Given the description of an element on the screen output the (x, y) to click on. 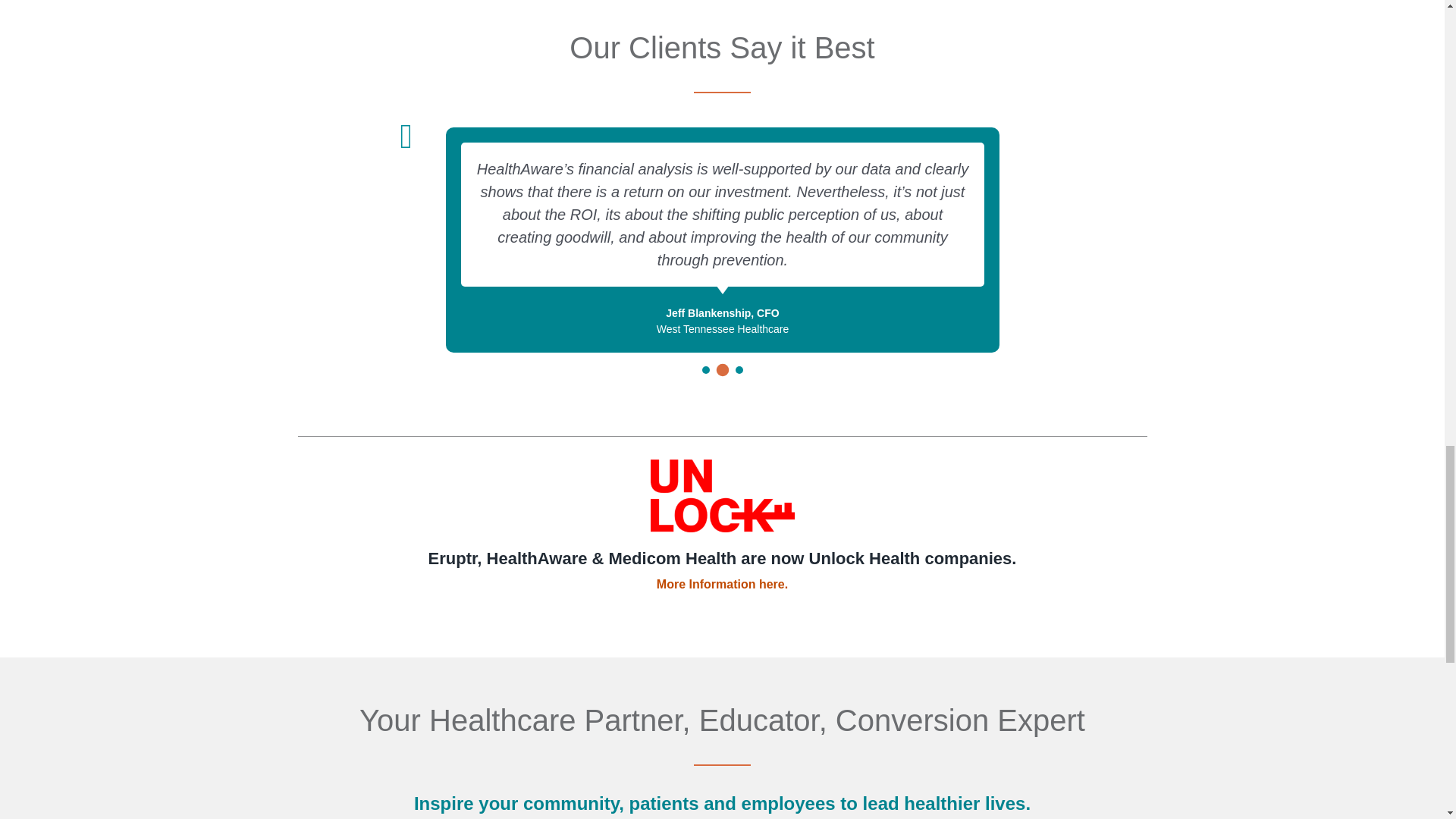
More Information here. (721, 584)
